Given the description of an element on the screen output the (x, y) to click on. 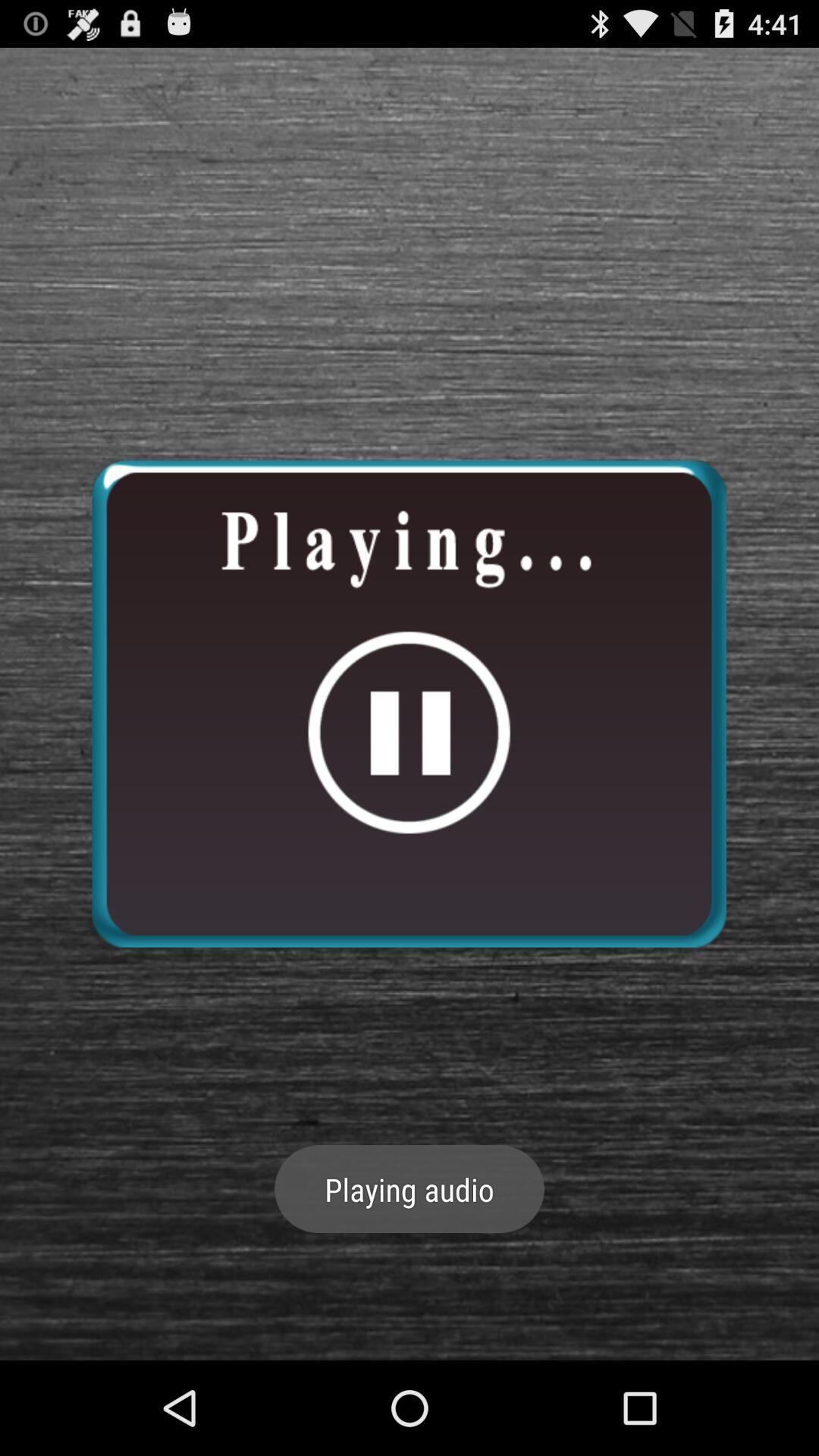
plaing video page (409, 703)
